Given the description of an element on the screen output the (x, y) to click on. 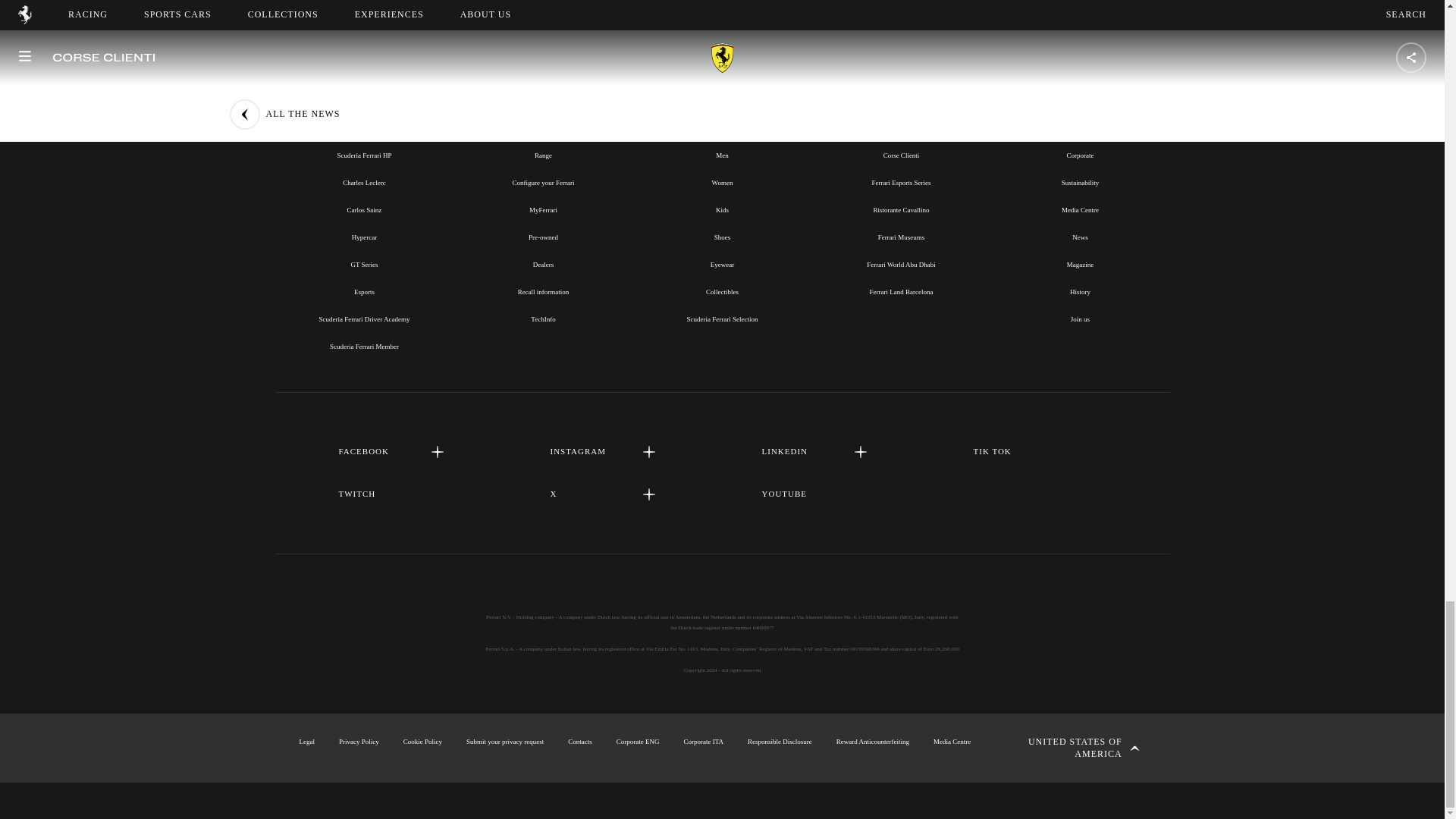
Scuderia Ferrari Driver Academy (363, 318)
Change country (1072, 747)
Scuderia Ferrari HP (363, 154)
Hypercar (364, 236)
TechInfo (542, 318)
Dealers (542, 264)
SUBSCRIBE (721, 2)
Esports (363, 291)
Men (722, 154)
MyFerrari (543, 209)
